Given the description of an element on the screen output the (x, y) to click on. 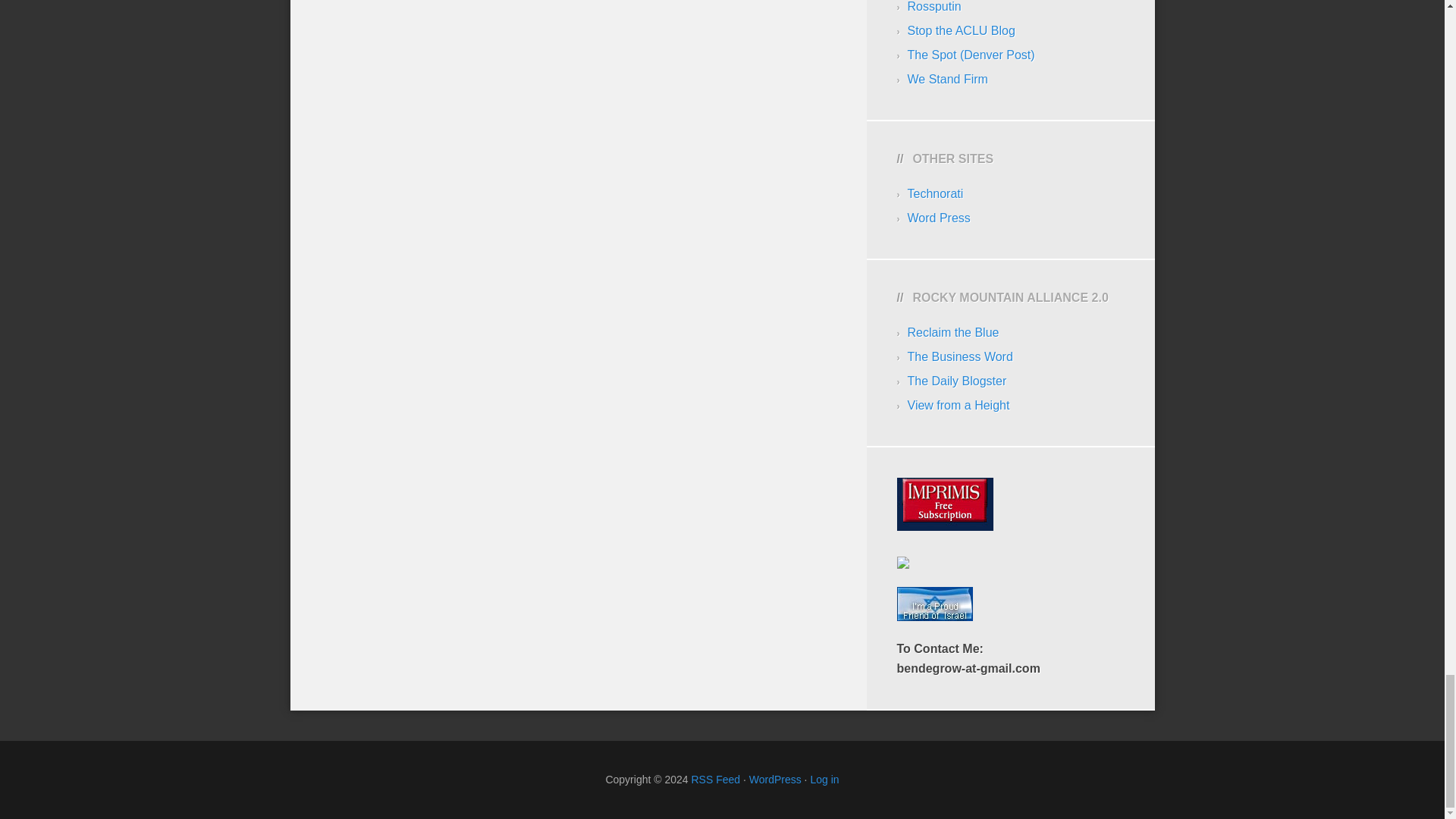
Colorado Health Care Reform (947, 78)
